Given the description of an element on the screen output the (x, y) to click on. 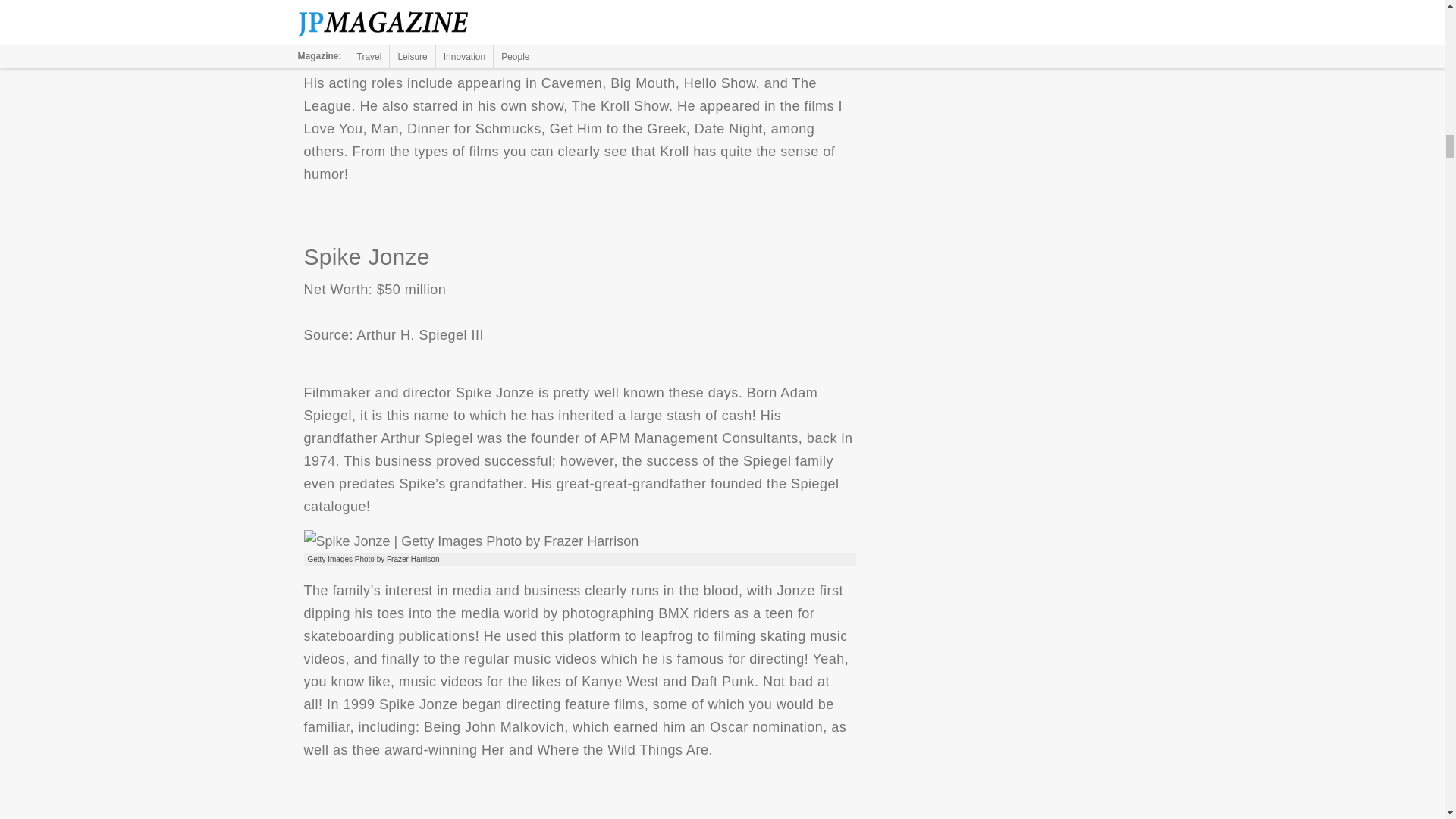
Nick Kroll (481, 33)
Spike Jonze (470, 540)
